Given the description of an element on the screen output the (x, y) to click on. 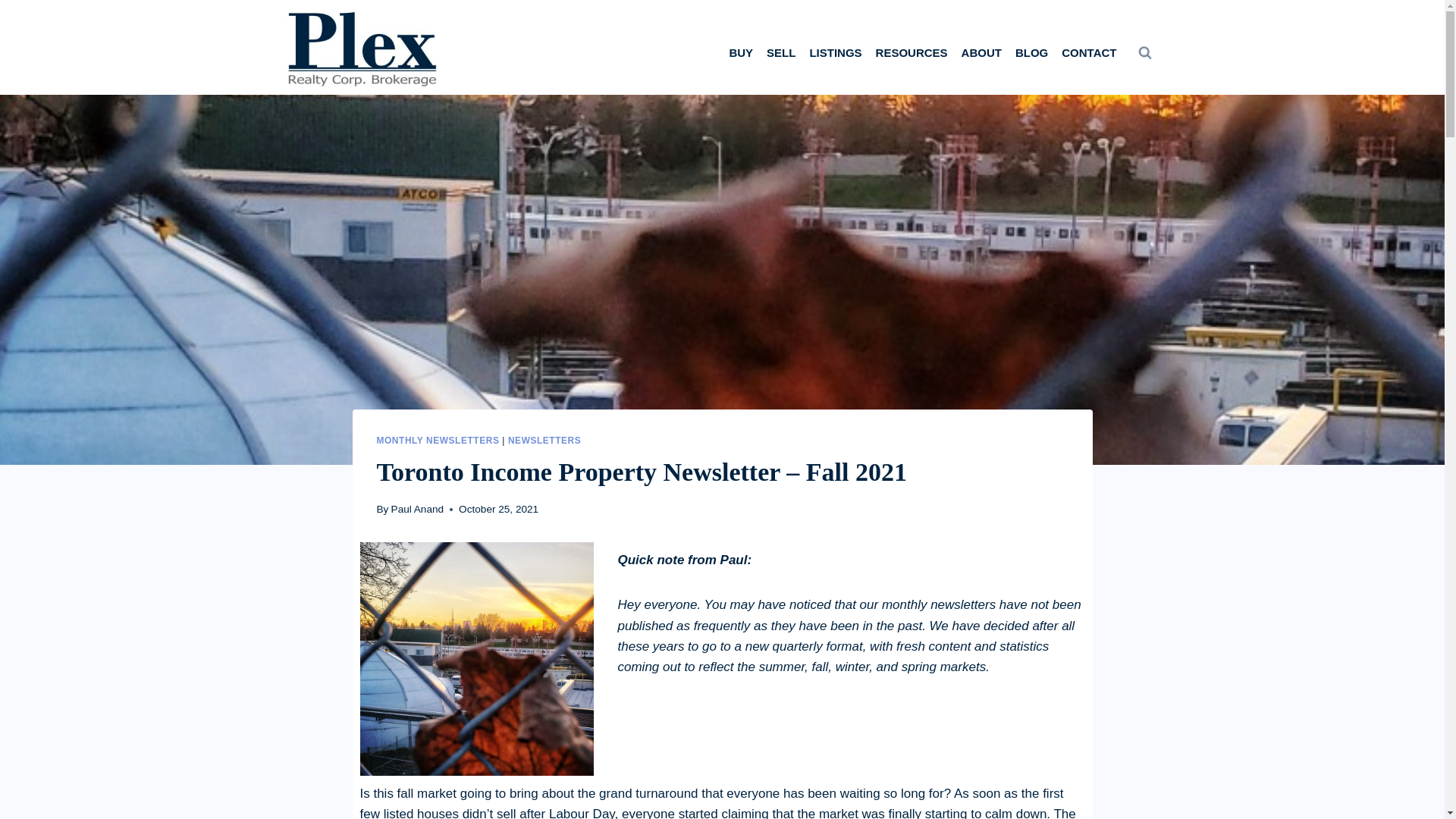
Paul Anand (417, 509)
BUY (741, 52)
NEWSLETTERS (544, 439)
LISTINGS (834, 52)
MONTHLY NEWSLETTERS (437, 439)
SELL (781, 52)
BLOG (1031, 52)
RESOURCES (912, 52)
CONTACT (1088, 52)
ABOUT (982, 52)
